Given the description of an element on the screen output the (x, y) to click on. 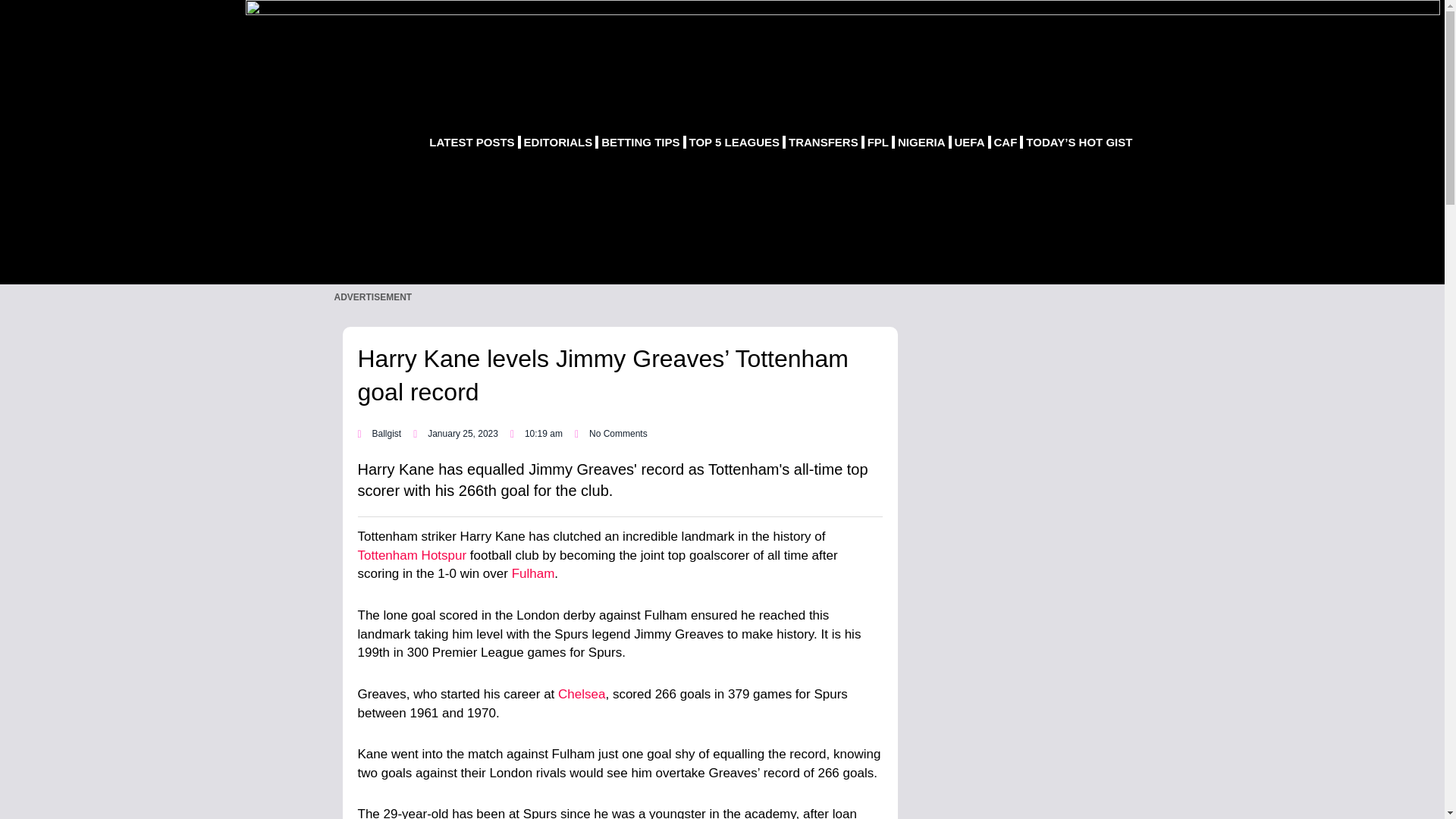
BETTING TIPS (640, 141)
NIGERIA (922, 141)
UEFA (970, 141)
TOP 5 LEAGUES (733, 141)
FPL (877, 141)
CAF (1005, 141)
TRANSFERS (823, 141)
LATEST POSTS (471, 141)
EDITORIALS (558, 141)
